Given the description of an element on the screen output the (x, y) to click on. 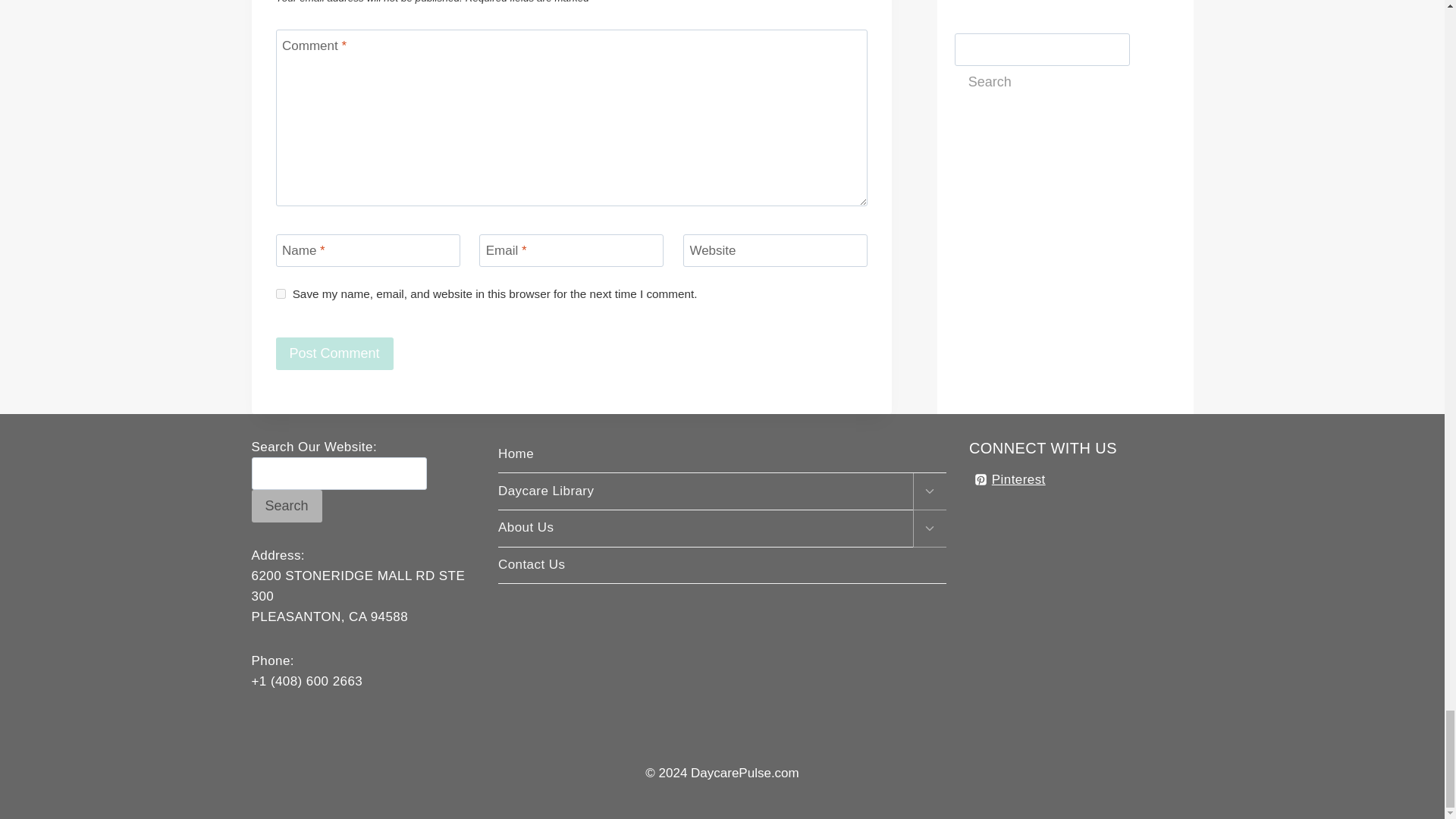
Post Comment (334, 353)
yes (280, 293)
